Given the description of an element on the screen output the (x, y) to click on. 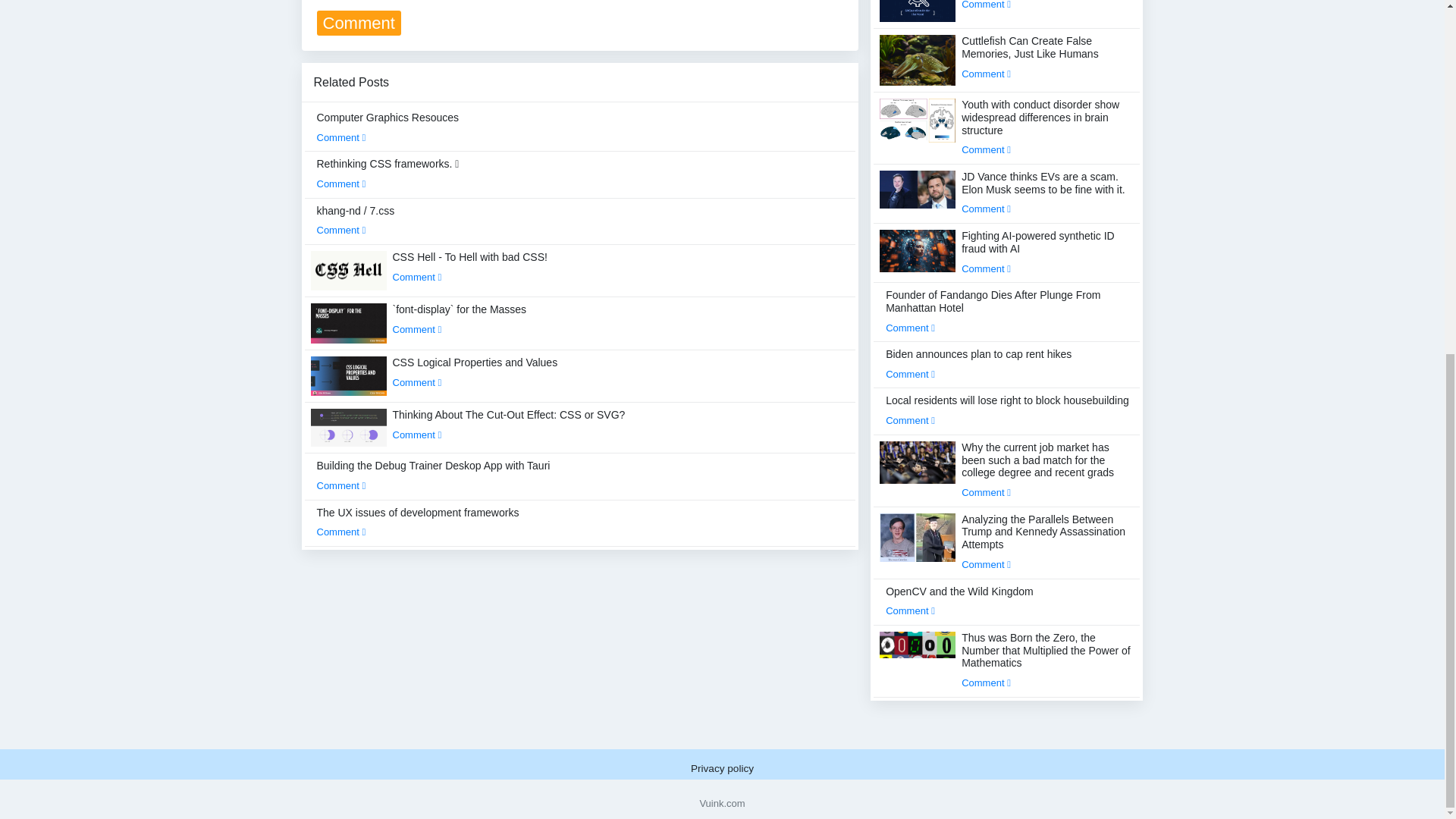
Computer Graphics Resouces (388, 127)
CSS Hell - To Hell with bad CSS! (470, 266)
Comment (417, 382)
Thinking About The Cut-Out Effect: CSS or SVG? (509, 424)
Comment (417, 276)
Comment (417, 328)
Comment (341, 229)
CSS Logical Properties and Values (475, 372)
Comment (341, 137)
Comment (417, 434)
Comment (341, 183)
